Given the description of an element on the screen output the (x, y) to click on. 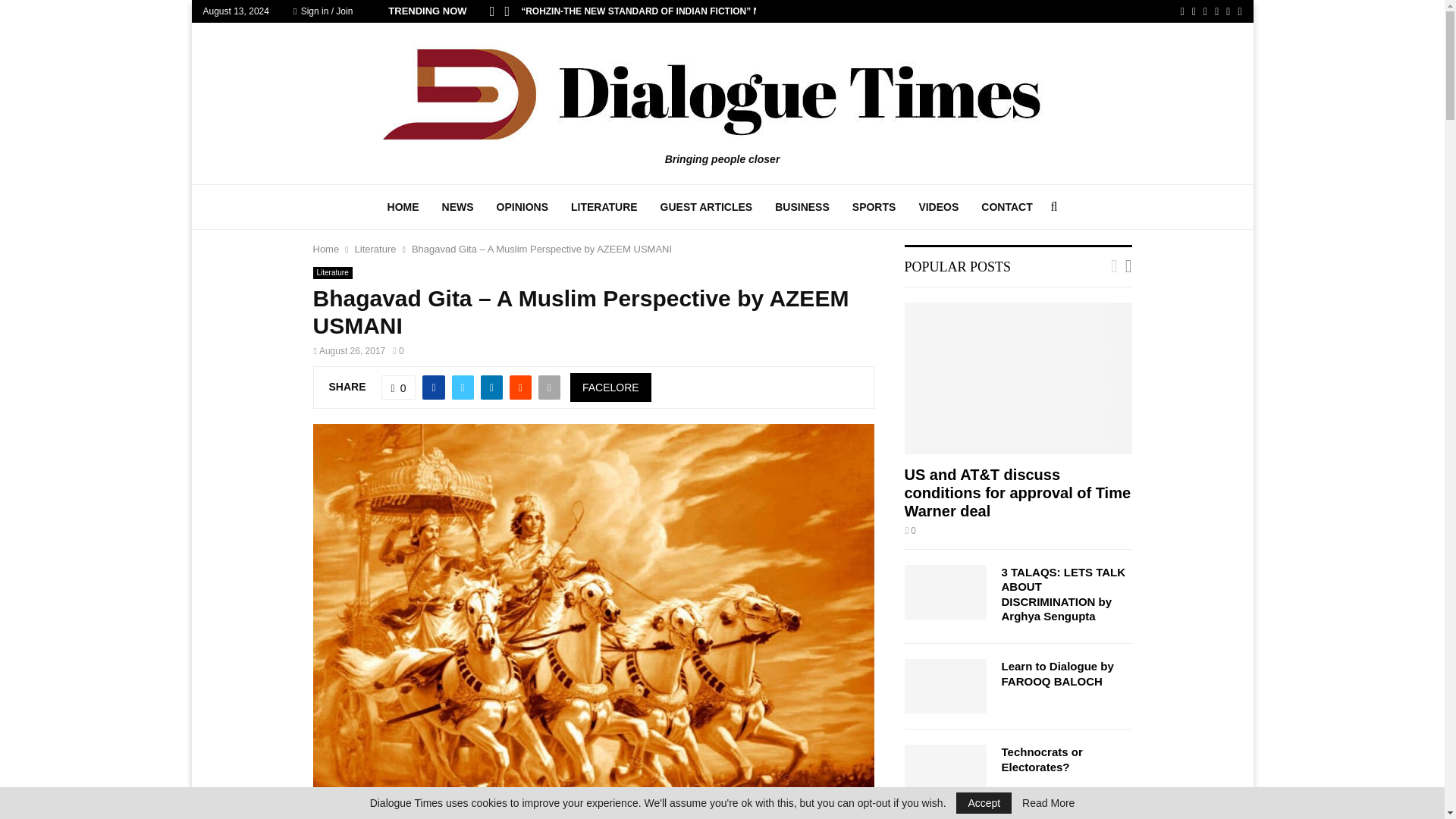
Login to your account (722, 293)
OPINIONS (522, 207)
Sign up new account (722, 527)
Like (398, 387)
LITERATURE (603, 207)
